Given the description of an element on the screen output the (x, y) to click on. 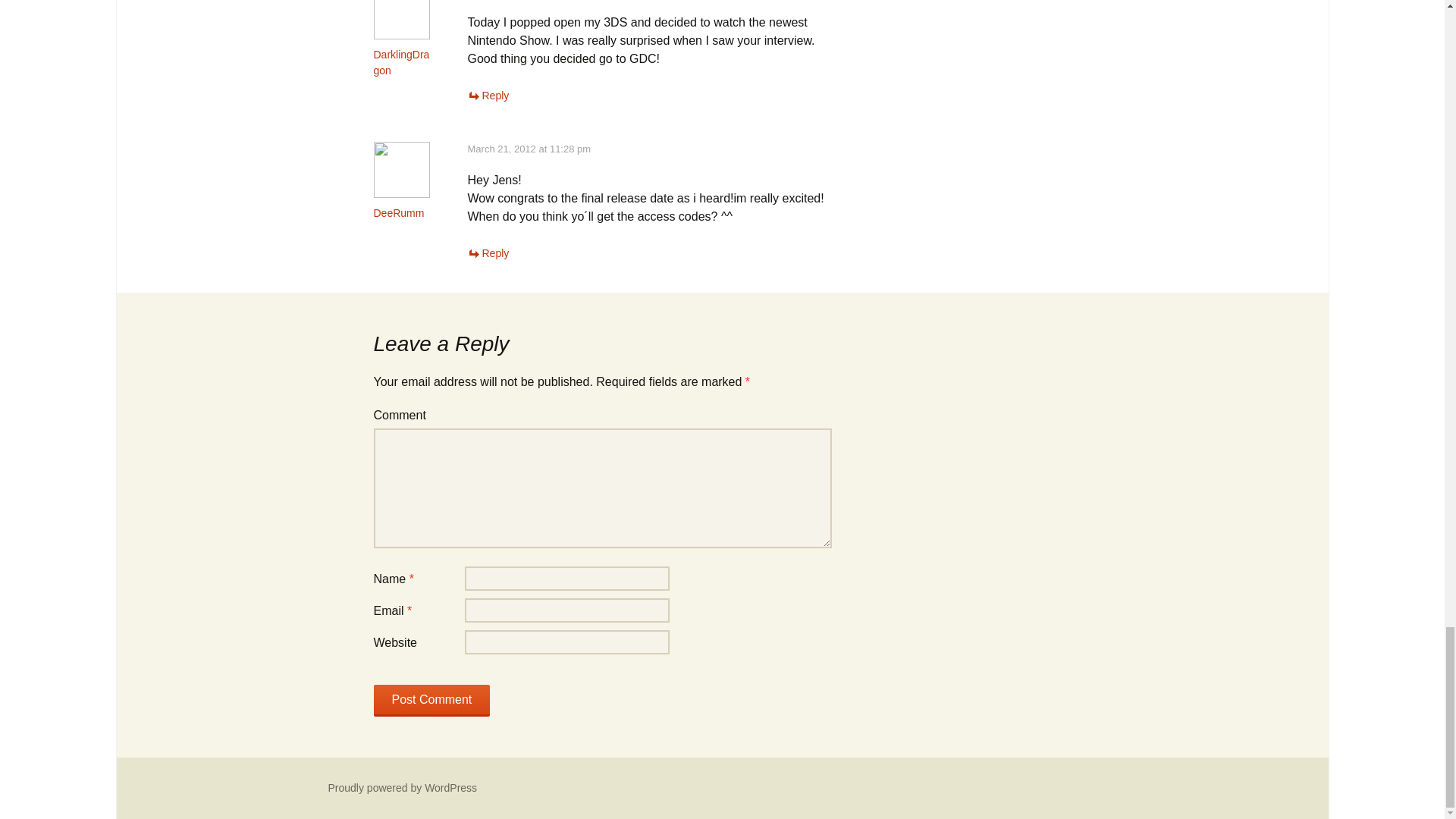
March 21, 2012 at 11:28 pm (529, 148)
Semantic Personal Publishing Platform (402, 787)
Reply (487, 253)
Reply (487, 95)
Post Comment (430, 700)
